Given the description of an element on the screen output the (x, y) to click on. 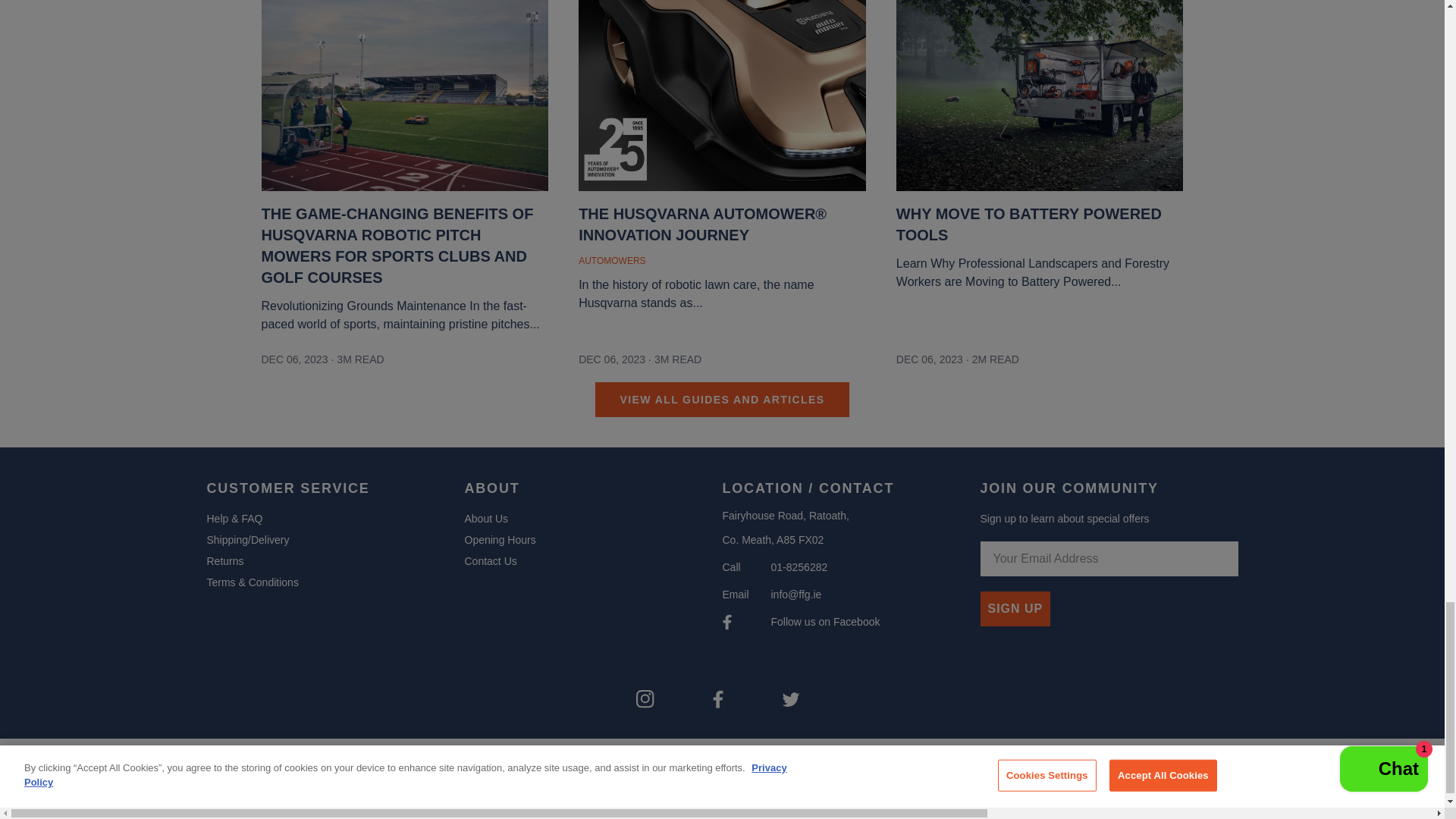
Why Move to Battery Powered Tools (1039, 98)
Call Us on 01-8256282 (798, 567)
News Translation missing: en.blogs.general.tagged Automowers (612, 260)
Why Move to Battery Powered Tools (1039, 247)
Follow us on Facebook (824, 621)
